Given the description of an element on the screen output the (x, y) to click on. 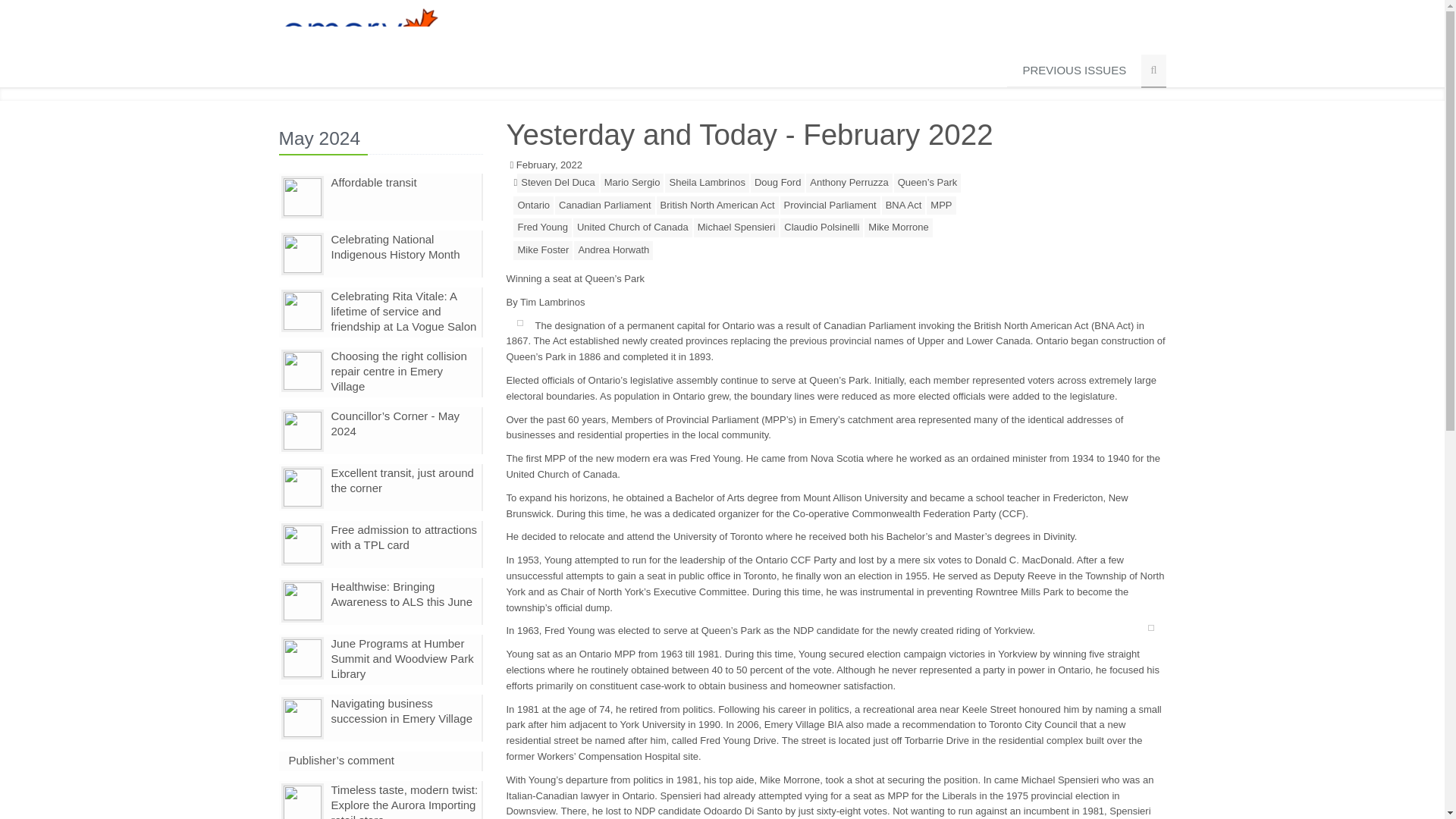
Mario Sergio (631, 182)
Doug Ford (778, 182)
Anthony Perruzza (848, 182)
June Programs at Humber Summit and Woodview Park Library (401, 658)
Excellent transit, just around the corner (401, 480)
Canadian Parliament (603, 205)
PREVIOUS ISSUES (1074, 70)
Steven Del Duca (557, 182)
